Given the description of an element on the screen output the (x, y) to click on. 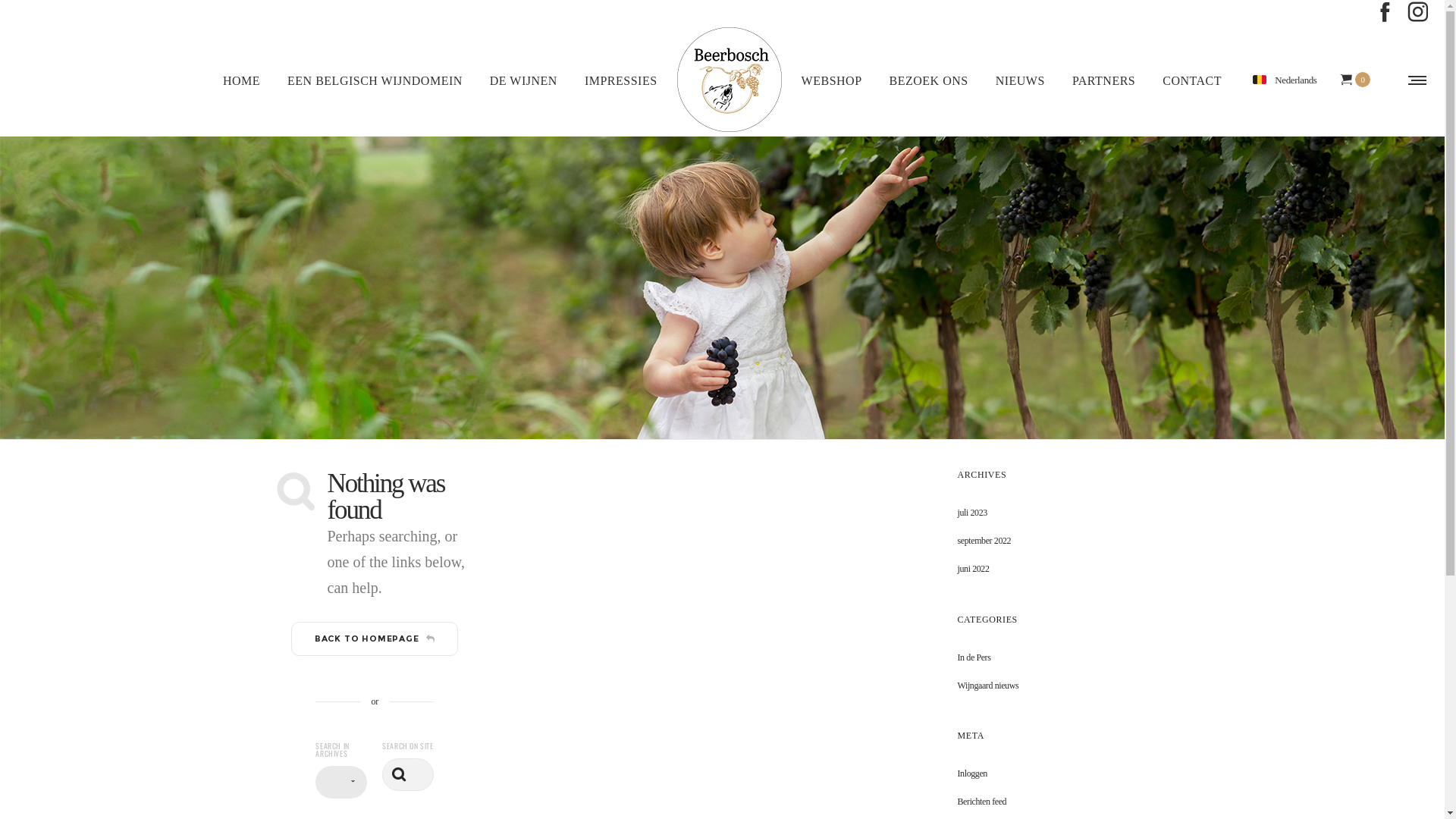
BEZOEK ONS Element type: text (928, 80)
Search Element type: text (1071, 412)
WEBSHOP Element type: text (831, 80)
Search Element type: text (398, 774)
BACK TO HOMEPAGE Element type: text (374, 638)
Wijngaard nieuws Element type: text (987, 685)
Berichten feed Element type: text (981, 801)
In de Pers Element type: text (973, 657)
PARTNERS Element type: text (1103, 80)
CONTACT Element type: text (1191, 80)
Inloggen Element type: text (971, 773)
NIEUWS Element type: text (1019, 80)
DE WIJNEN Element type: text (523, 80)
menu Element type: hover (1414, 79)
juli 2023 Element type: text (971, 512)
HOME Element type: text (241, 80)
juni 2022 Element type: text (972, 568)
EEN BELGISCH WIJNDOMEIN Element type: text (374, 80)
IMPRESSIES Element type: text (620, 80)
Site logo Element type: hover (729, 79)
Nederlands Element type: text (1284, 79)
september 2022 Element type: text (983, 540)
